Given the description of an element on the screen output the (x, y) to click on. 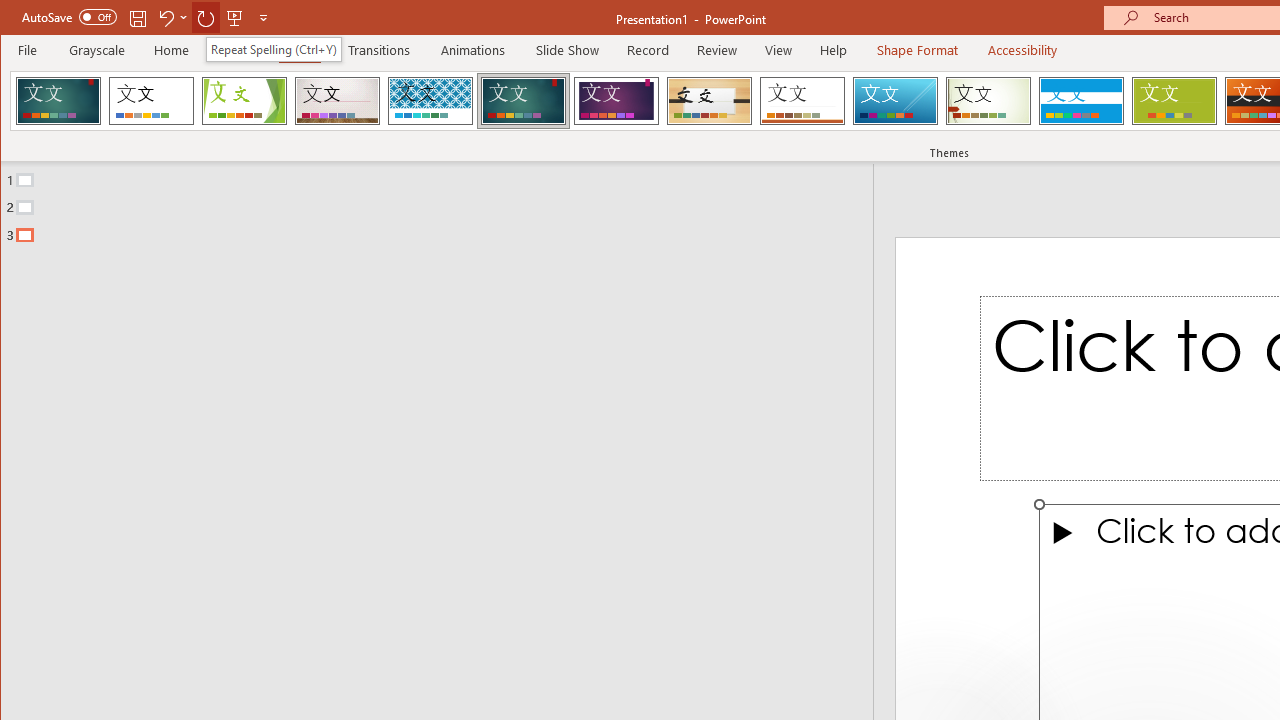
Retrospect (802, 100)
Grayscale (97, 50)
Ion (523, 100)
Basis (1174, 100)
Shape Format (916, 50)
Dividend (57, 100)
